Given the description of an element on the screen output the (x, y) to click on. 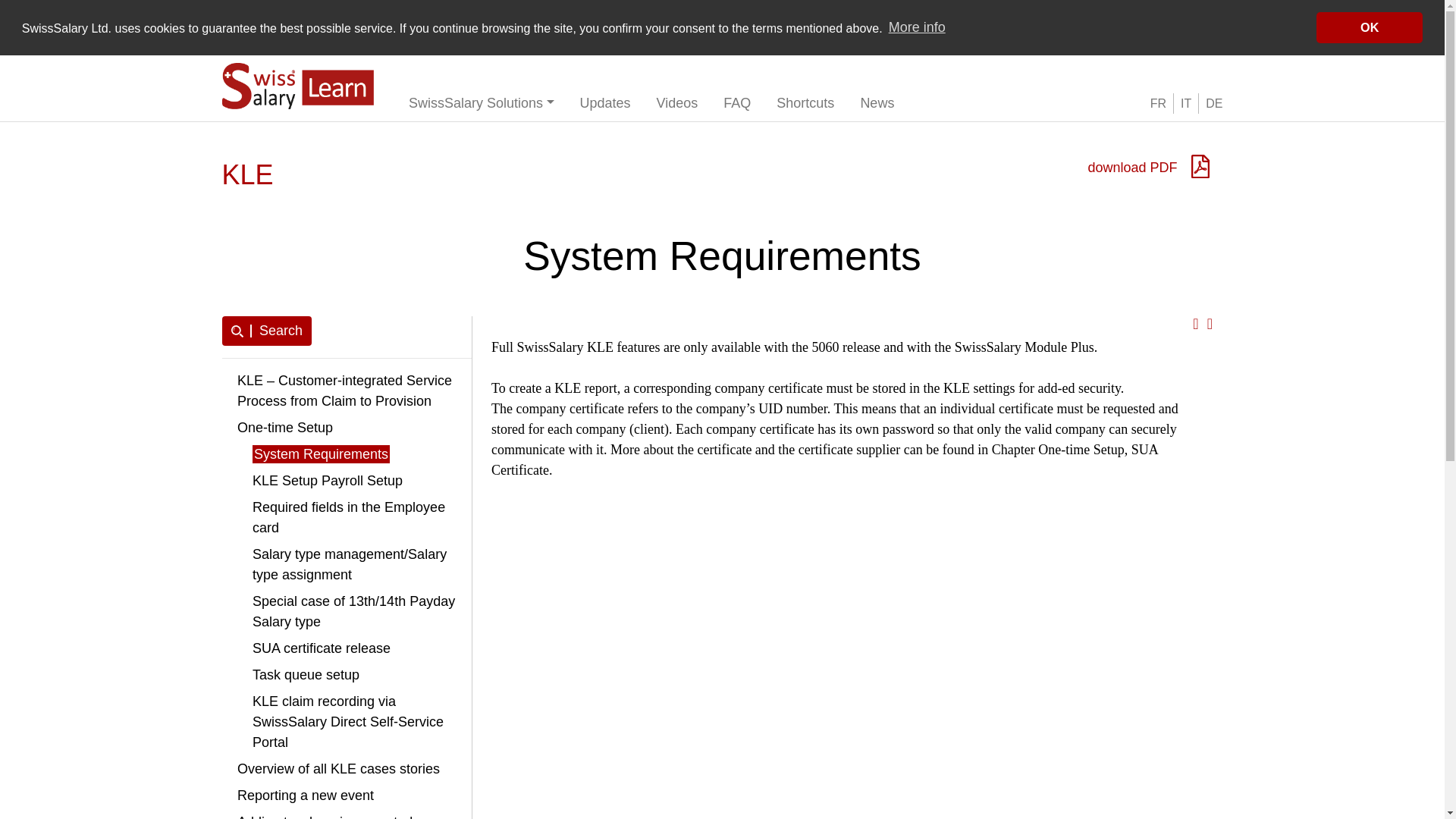
Updates (605, 102)
FR (1158, 103)
News (876, 102)
DE (1214, 103)
News (876, 103)
Shortcuts (805, 102)
OK (1369, 27)
FAQ (737, 102)
More info (916, 27)
